Given the description of an element on the screen output the (x, y) to click on. 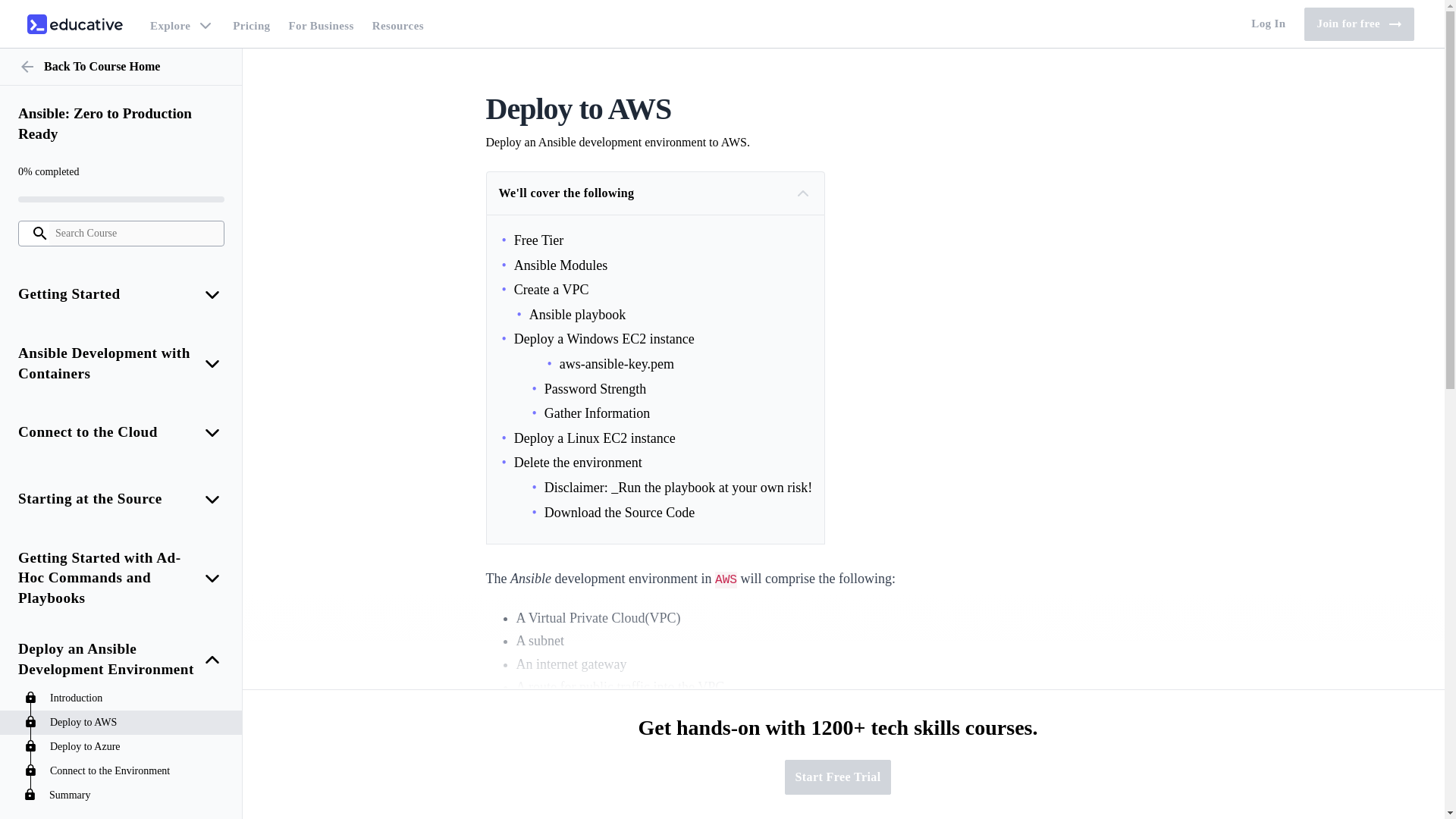
Back To Course Home (121, 66)
For Business (320, 23)
Resources (397, 23)
educative.io (74, 23)
Log In (1268, 23)
Pricing (1358, 23)
Ansible: Zero to Production Ready (251, 23)
Explore (121, 124)
